Given the description of an element on the screen output the (x, y) to click on. 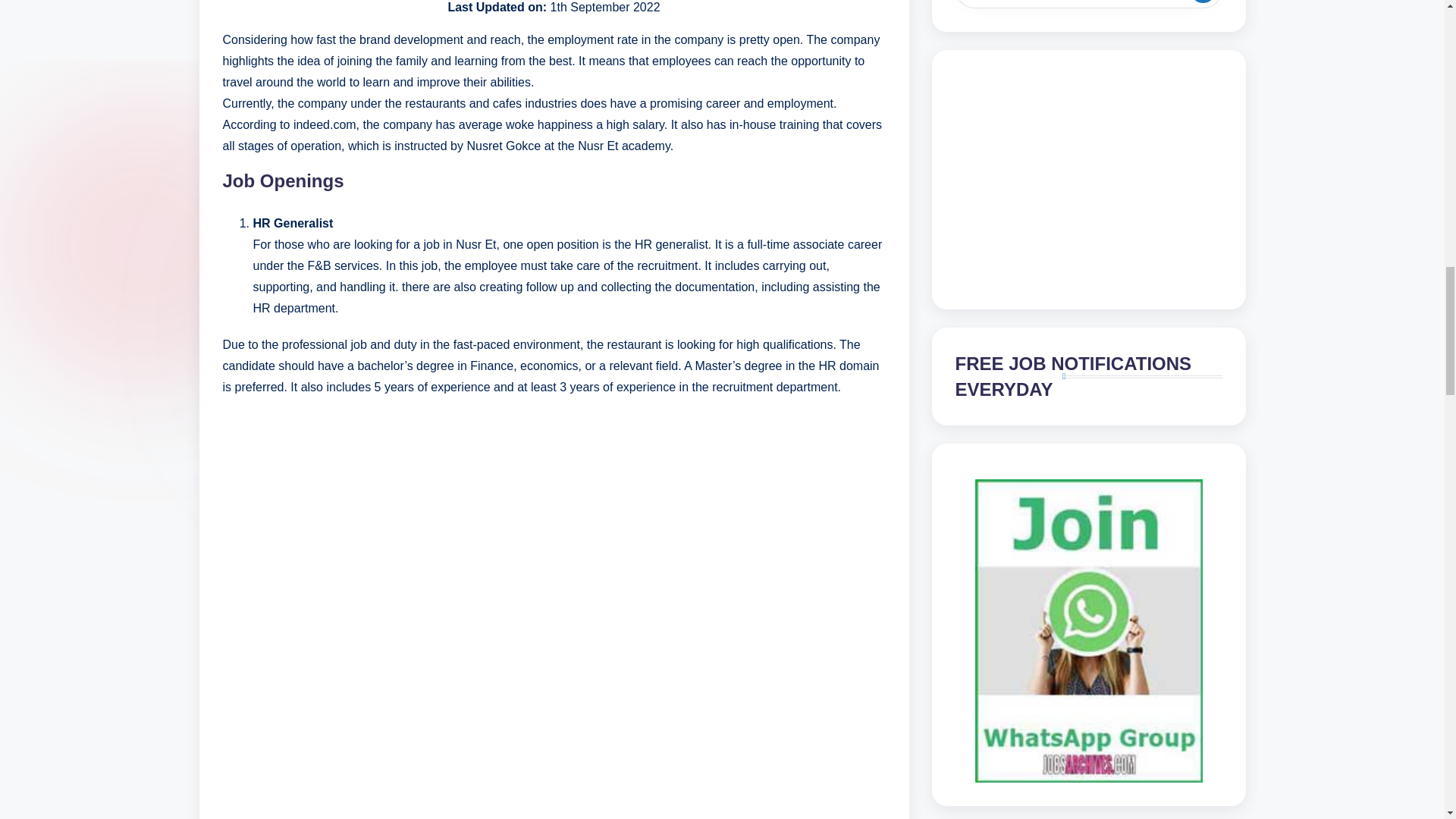
Advertisement (553, 724)
